Given the description of an element on the screen output the (x, y) to click on. 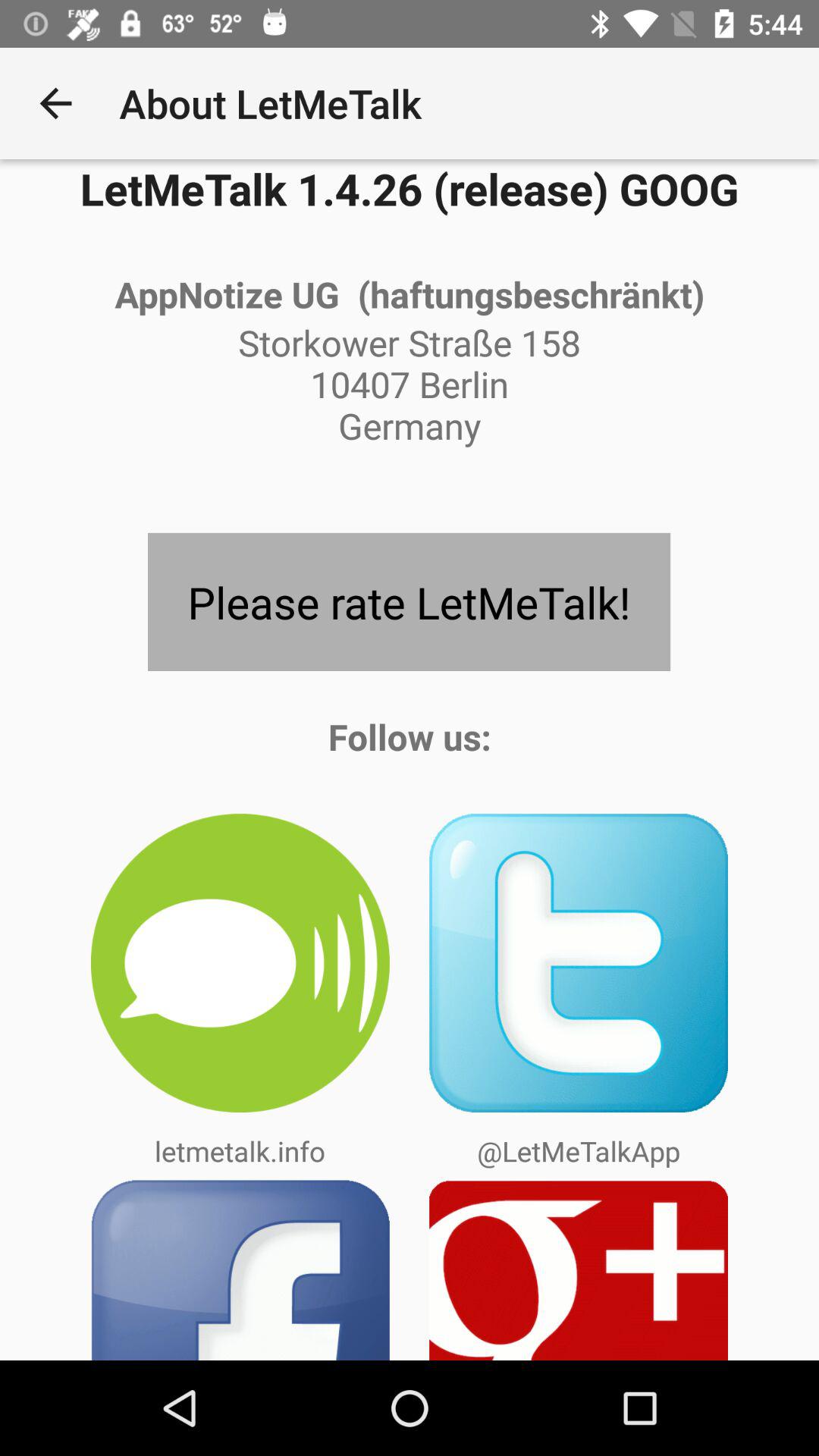
se lect to options (578, 1269)
